Given the description of an element on the screen output the (x, y) to click on. 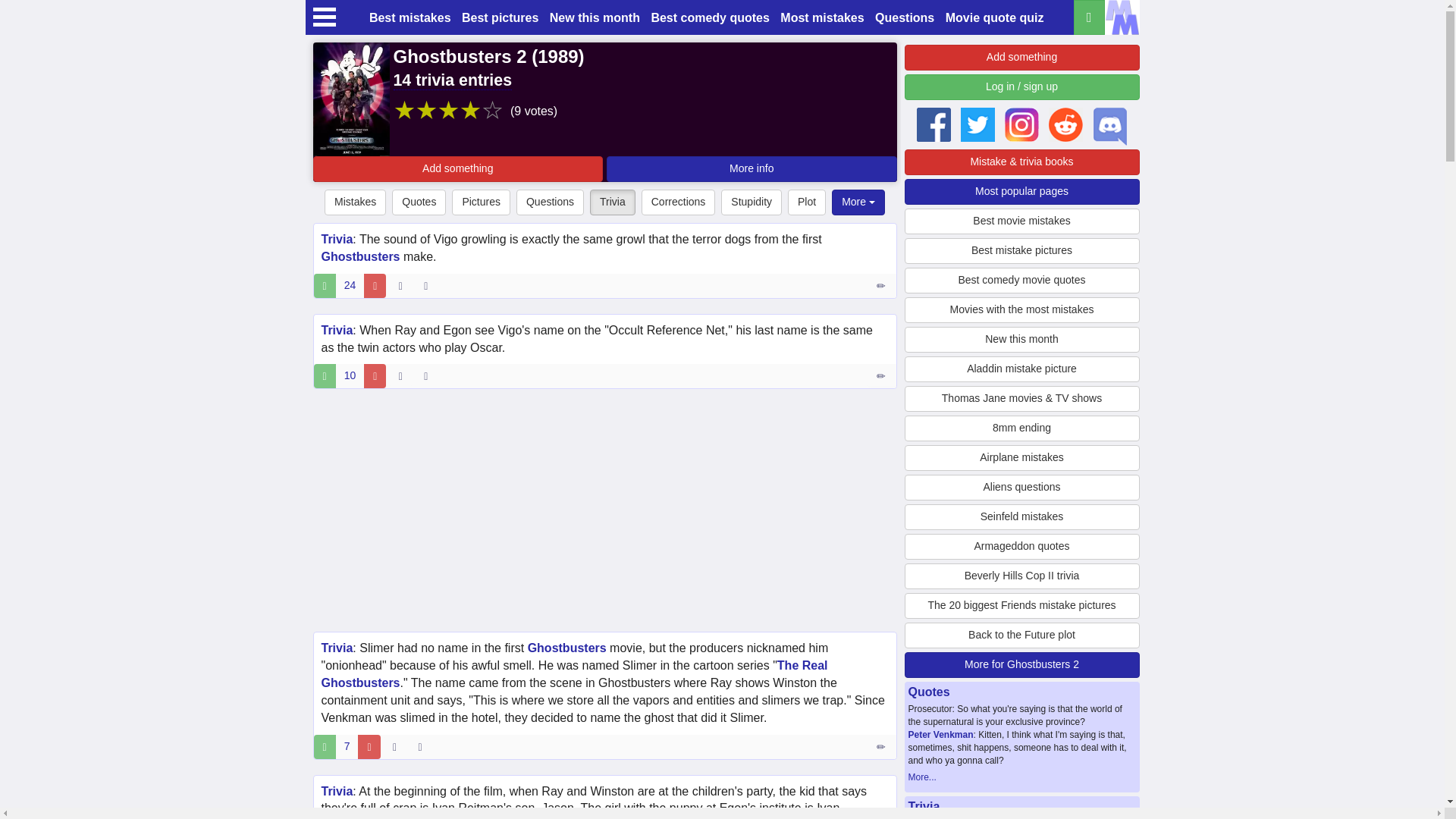
I dislike this (374, 375)
Share this entry (423, 746)
Share this entry (429, 285)
Entry 64578 (881, 746)
Share this entry (429, 375)
I dislike this (374, 285)
I like this (325, 746)
Entry 53516 (881, 285)
I like this (325, 375)
I dislike this (369, 746)
I like this (325, 285)
Entry 56081 (881, 375)
